Given the description of an element on the screen output the (x, y) to click on. 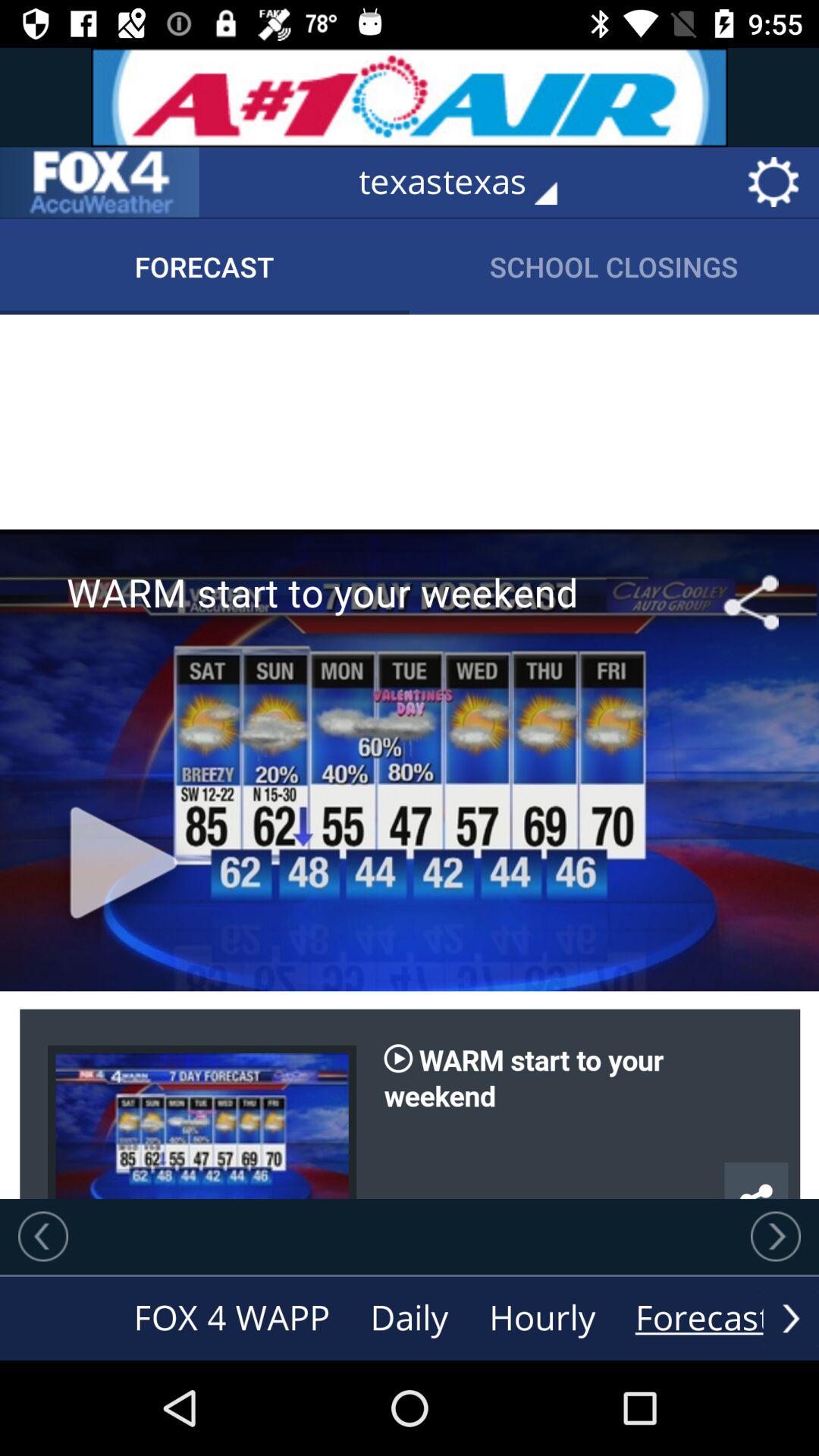
go to next (775, 1236)
